Given the description of an element on the screen output the (x, y) to click on. 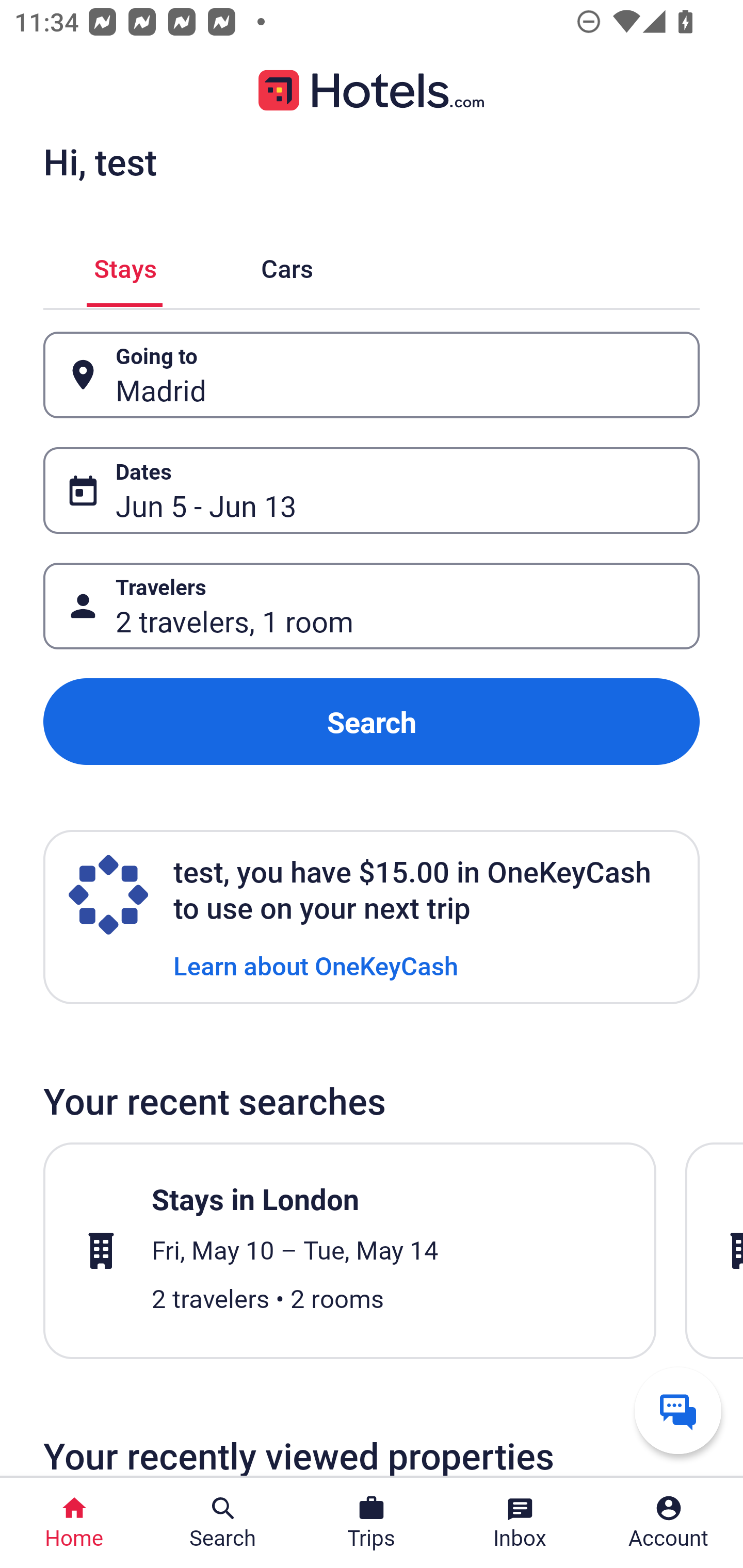
Hi, test (99, 161)
Cars (286, 265)
Going to Button Madrid (371, 375)
Dates Button Jun 5 - Jun 13 (371, 489)
Travelers Button 2 travelers, 1 room (371, 605)
Search (371, 721)
Learn about OneKeyCash Learn about OneKeyCash Link (315, 964)
Get help from a virtual agent (677, 1410)
Search Search Button (222, 1522)
Trips Trips Button (371, 1522)
Inbox Inbox Button (519, 1522)
Account Profile. Button (668, 1522)
